Given the description of an element on the screen output the (x, y) to click on. 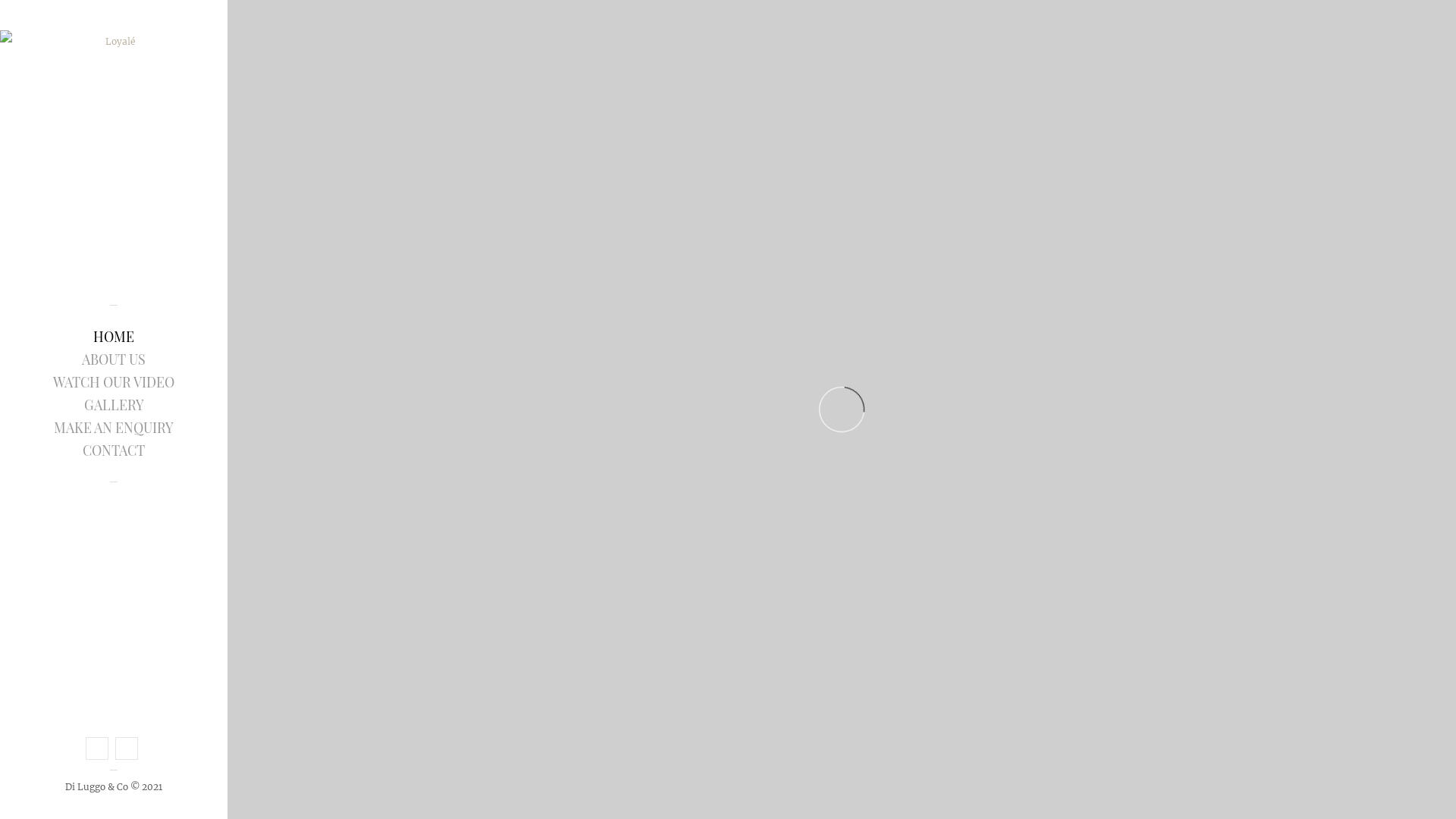
GALLERY Element type: text (113, 403)
WATCH OUR VIDEO Element type: text (113, 381)
HOME Element type: text (113, 335)
ABOUT US Element type: text (113, 358)
CONTACT Element type: text (113, 449)
MAKE AN ENQUIRY Element type: text (113, 426)
